Given the description of an element on the screen output the (x, y) to click on. 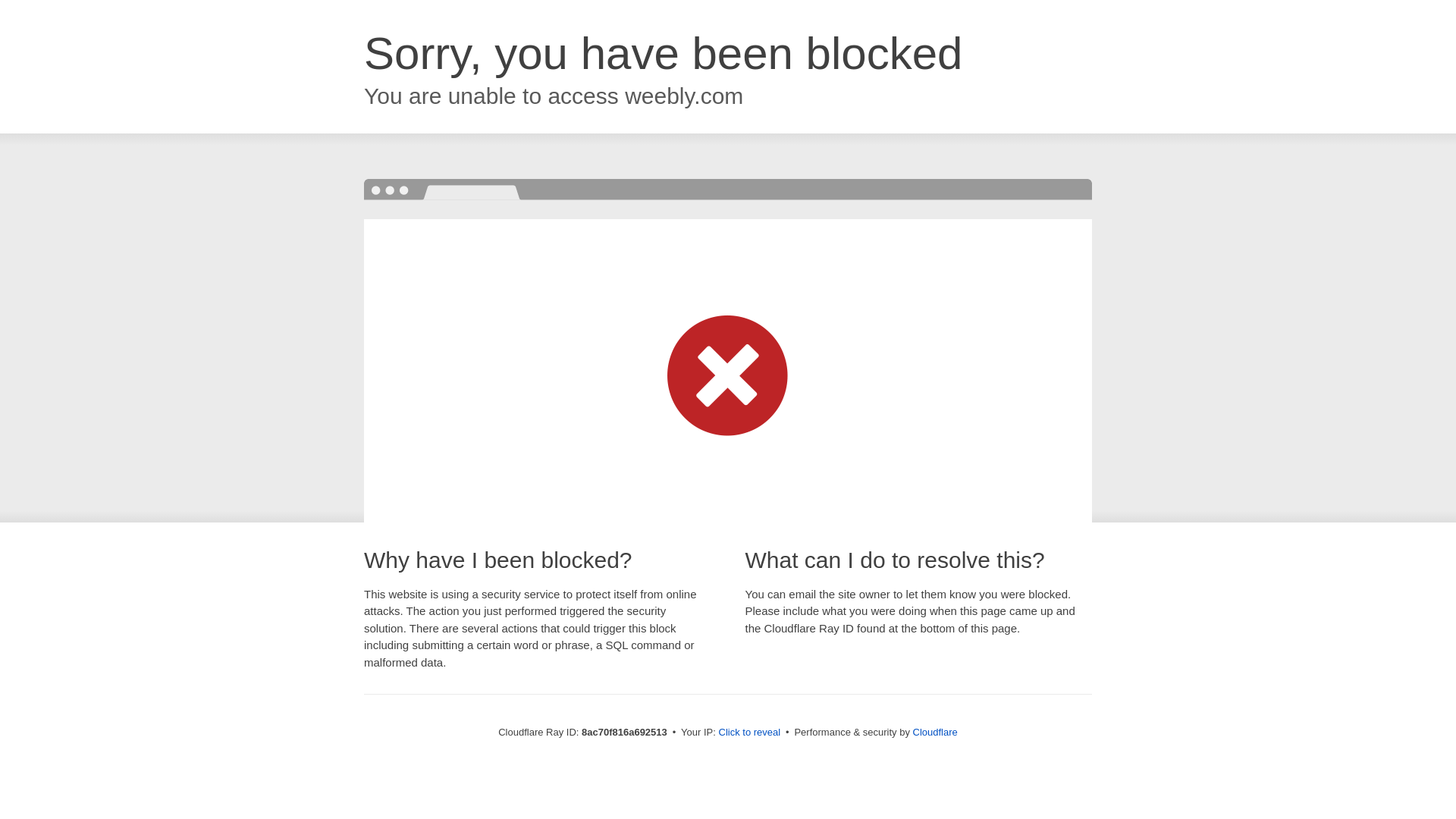
Cloudflare (935, 731)
Click to reveal (749, 732)
